Given the description of an element on the screen output the (x, y) to click on. 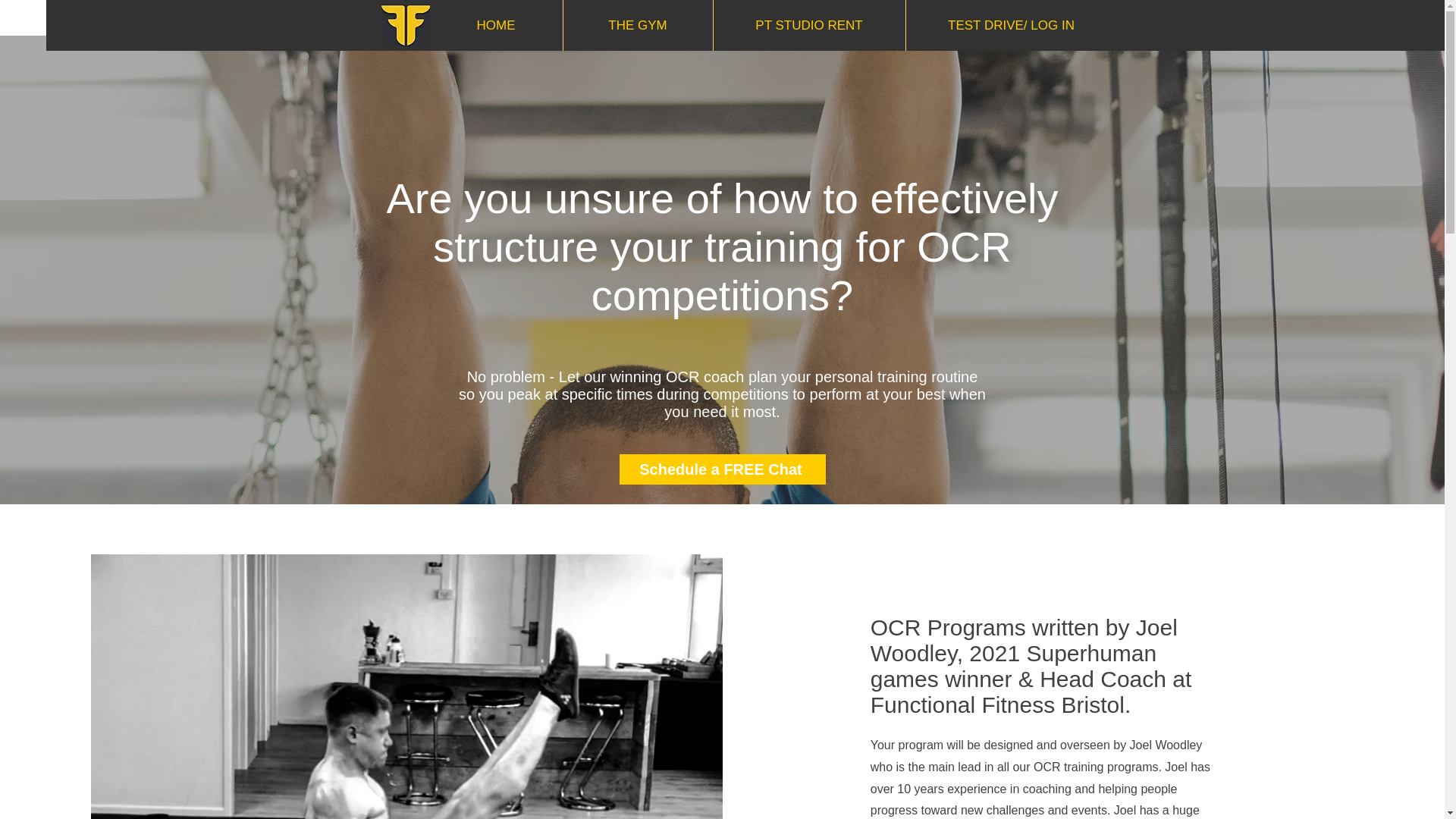
HOME (495, 25)
PT STUDIO RENT (809, 25)
Schedule a FREE Chat (721, 469)
